Given the description of an element on the screen output the (x, y) to click on. 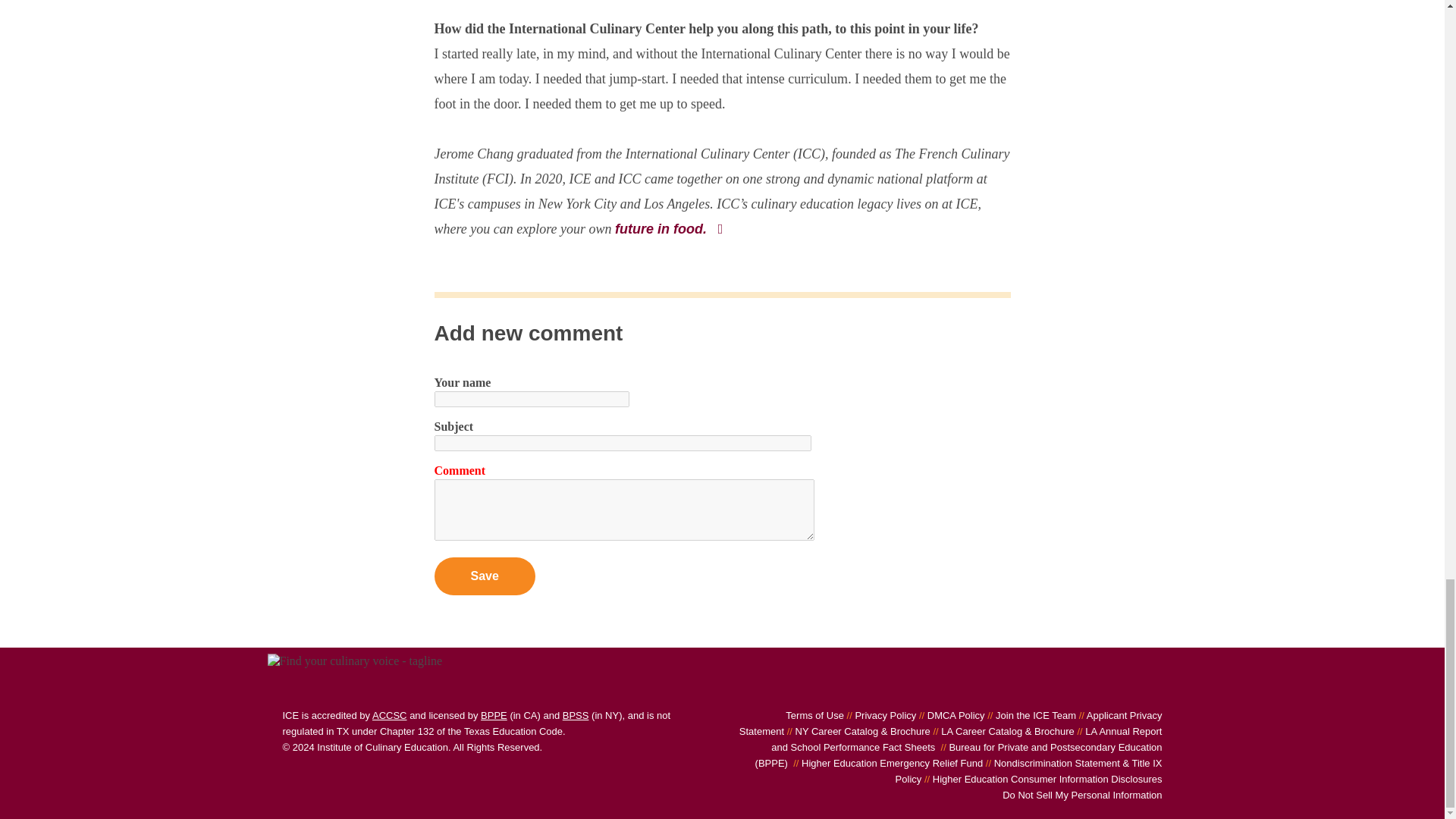
Terms of Use (815, 715)
Join the ICE Team (1030, 715)
DMCA Policy (949, 715)
Save (483, 576)
BPSS (575, 715)
Save (483, 576)
Applicant Privacy Statement (950, 723)
Accrediting Commission of Career Schools and Colleges (389, 715)
Bureau for Private Postsecondary Education (493, 715)
future in food. (669, 228)
